Given the description of an element on the screen output the (x, y) to click on. 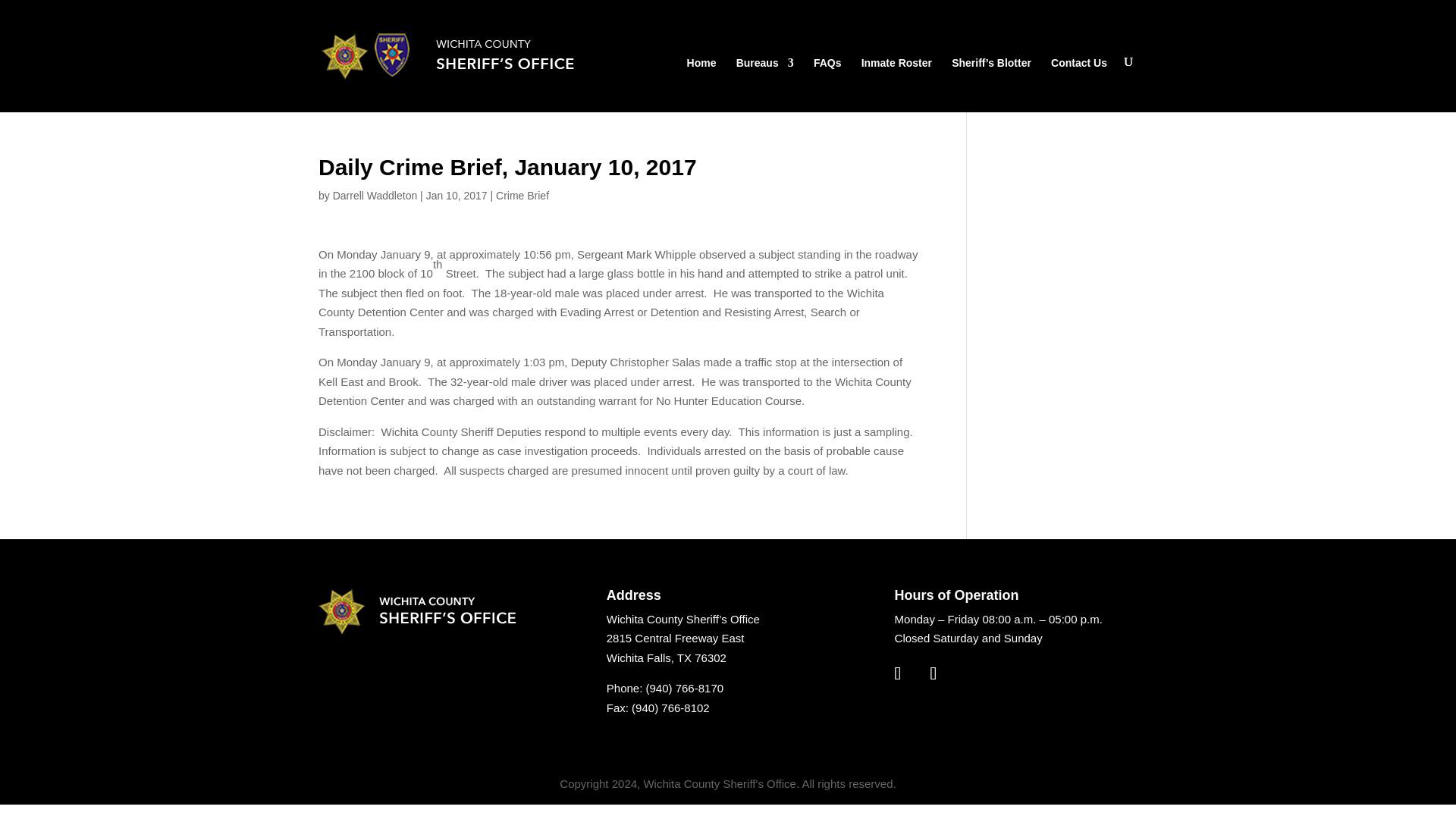
Bureaus (764, 81)
Posts by Darrell Waddleton (375, 195)
Inmate Roster (896, 81)
Contact Us (1078, 81)
Darrell Waddleton (375, 195)
Crime Brief (522, 195)
